Given the description of an element on the screen output the (x, y) to click on. 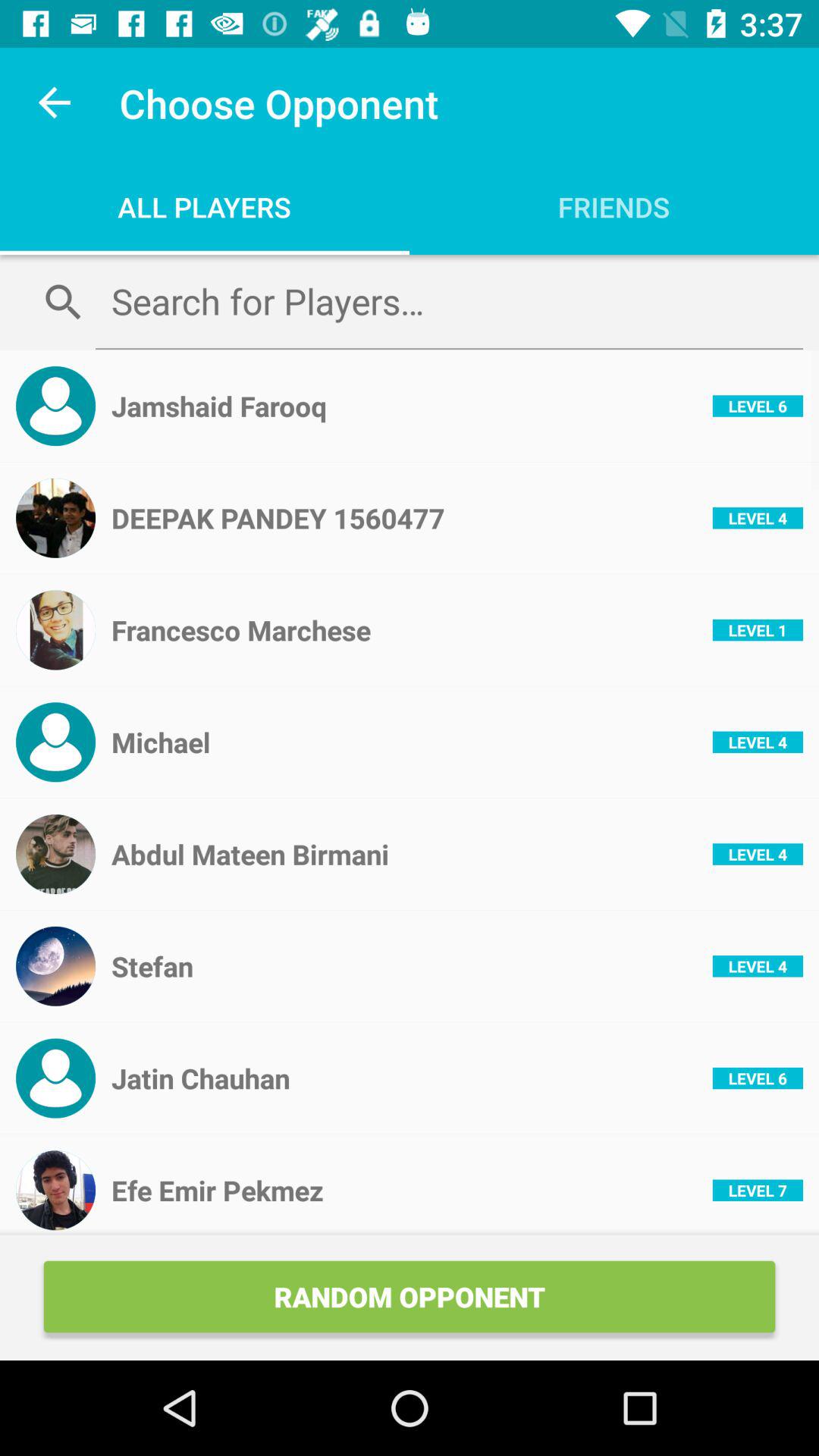
search for player (449, 301)
